Given the description of an element on the screen output the (x, y) to click on. 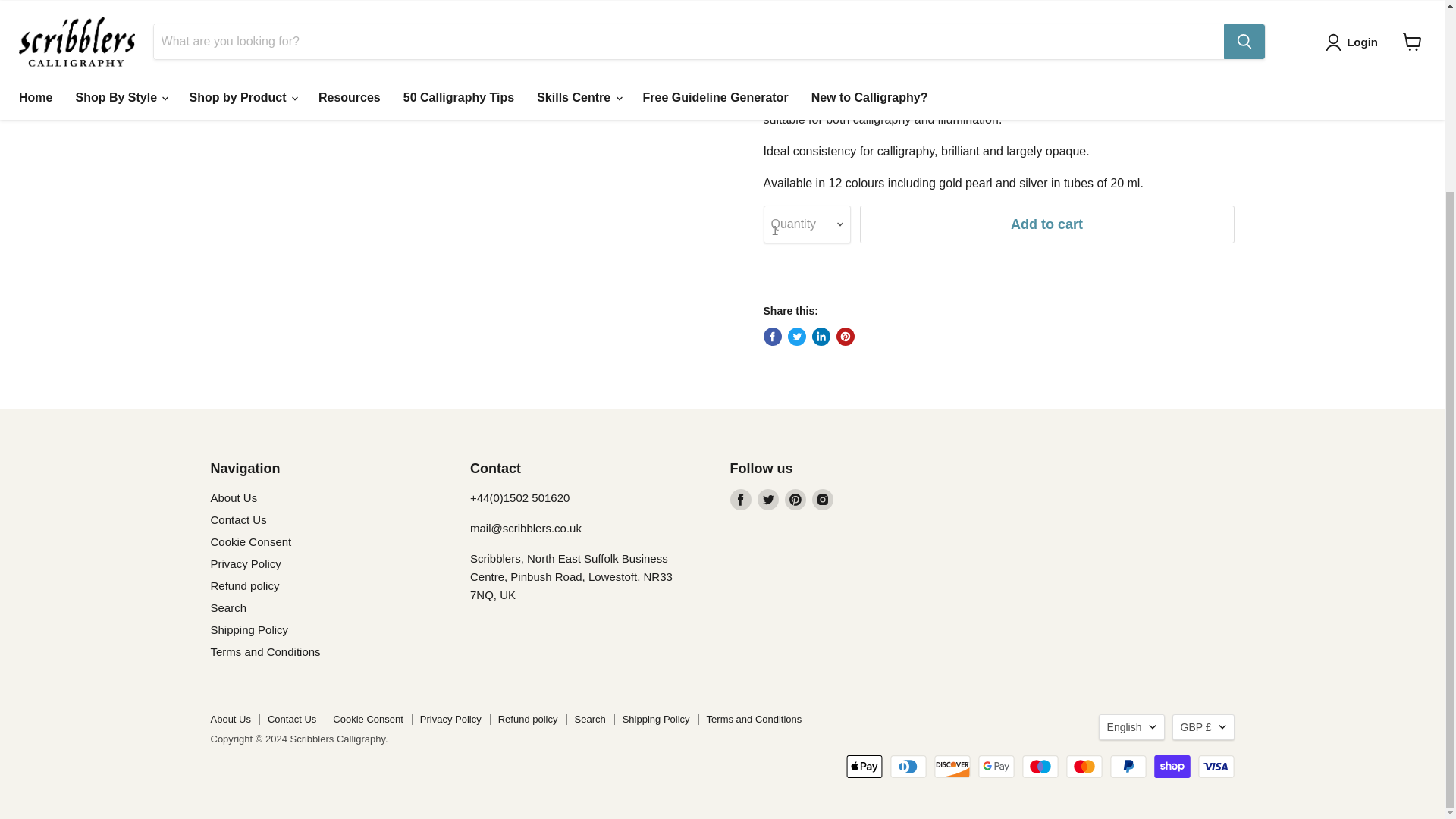
Diners Club (907, 766)
Discover (952, 766)
Facebook (740, 499)
Apple Pay (863, 766)
Instagram (821, 499)
Twitter (767, 499)
Pinterest (794, 499)
Google Pay (996, 766)
